Given the description of an element on the screen output the (x, y) to click on. 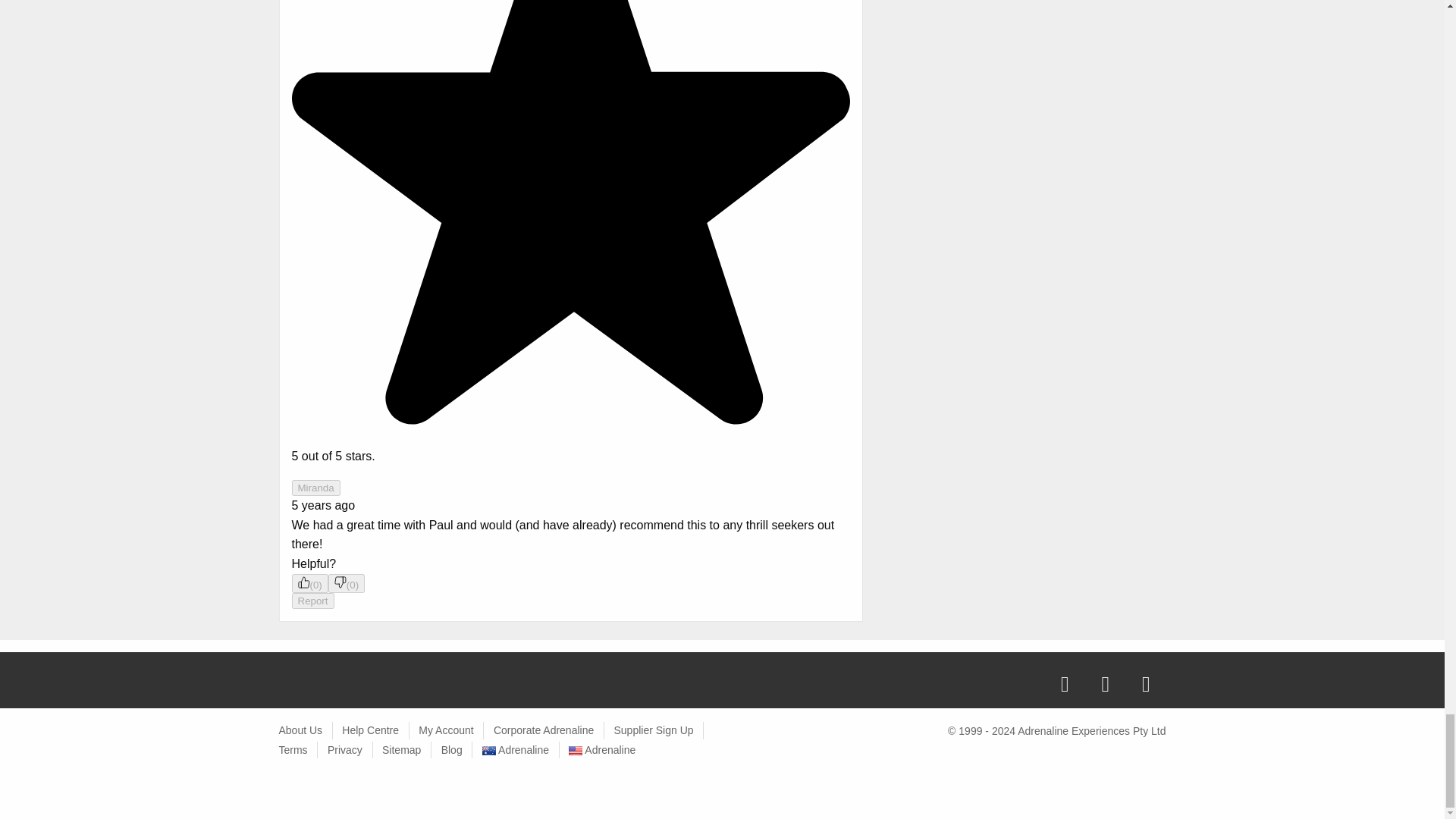
About Us (301, 729)
Sitemap (400, 749)
Adrenaline USA (601, 749)
Corporate Adrenaline (543, 729)
Become a Supplier (652, 729)
Blog (452, 749)
Help Centre (370, 729)
Adrenaline Australia (514, 749)
Terms (293, 749)
Privacy (344, 749)
My Account (446, 729)
